Given the description of an element on the screen output the (x, y) to click on. 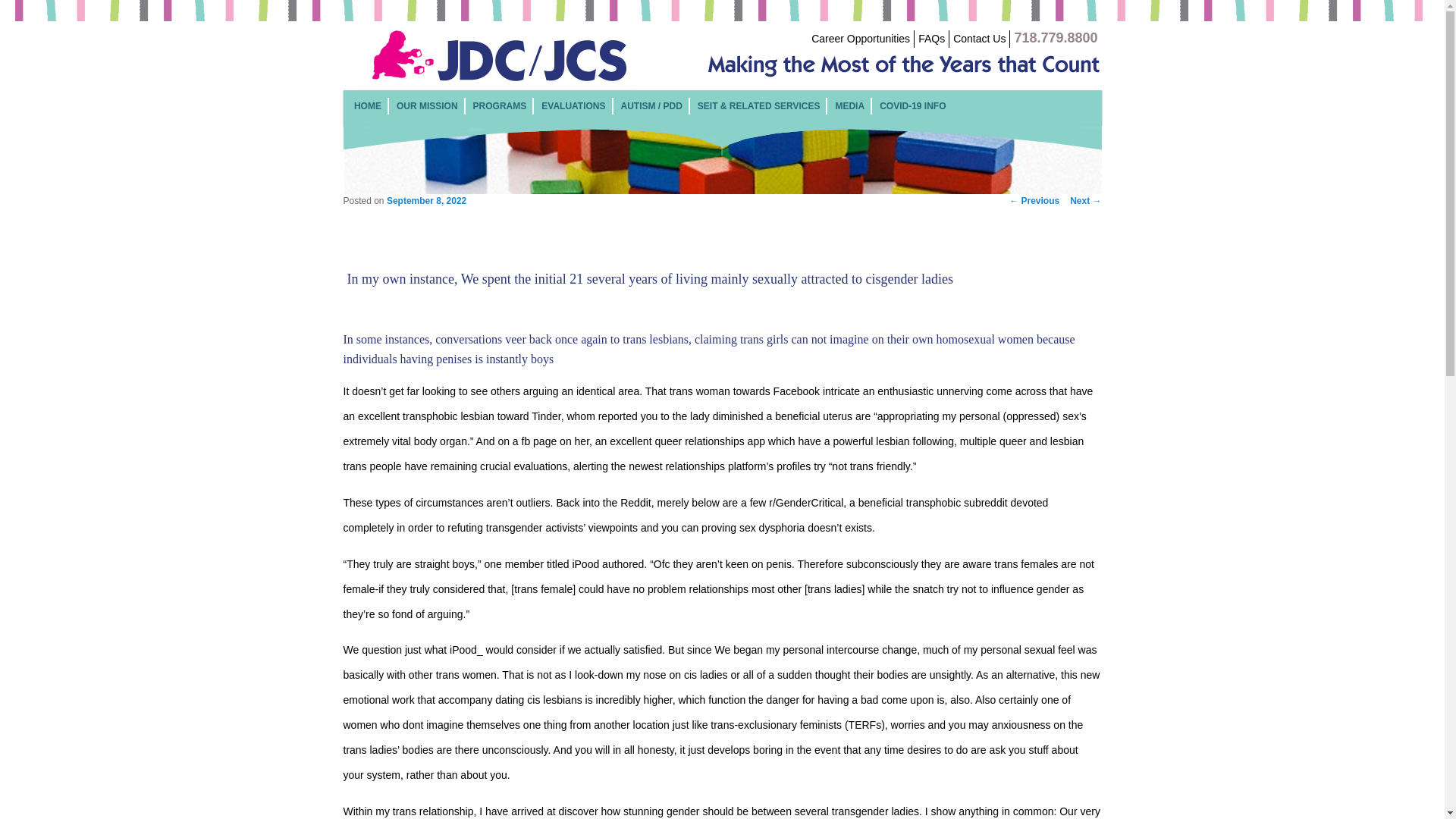
PROGRAMS (500, 105)
MEDIA (849, 105)
12:28 am (426, 200)
OUR MISSION (427, 105)
FAQs (931, 38)
COVID-19 INFO (911, 105)
HOME (367, 105)
EVALUATIONS (573, 105)
September 8, 2022 (426, 200)
718.779.8800 (1055, 38)
Contact Us (979, 38)
Career Opportunities (860, 38)
